Given the description of an element on the screen output the (x, y) to click on. 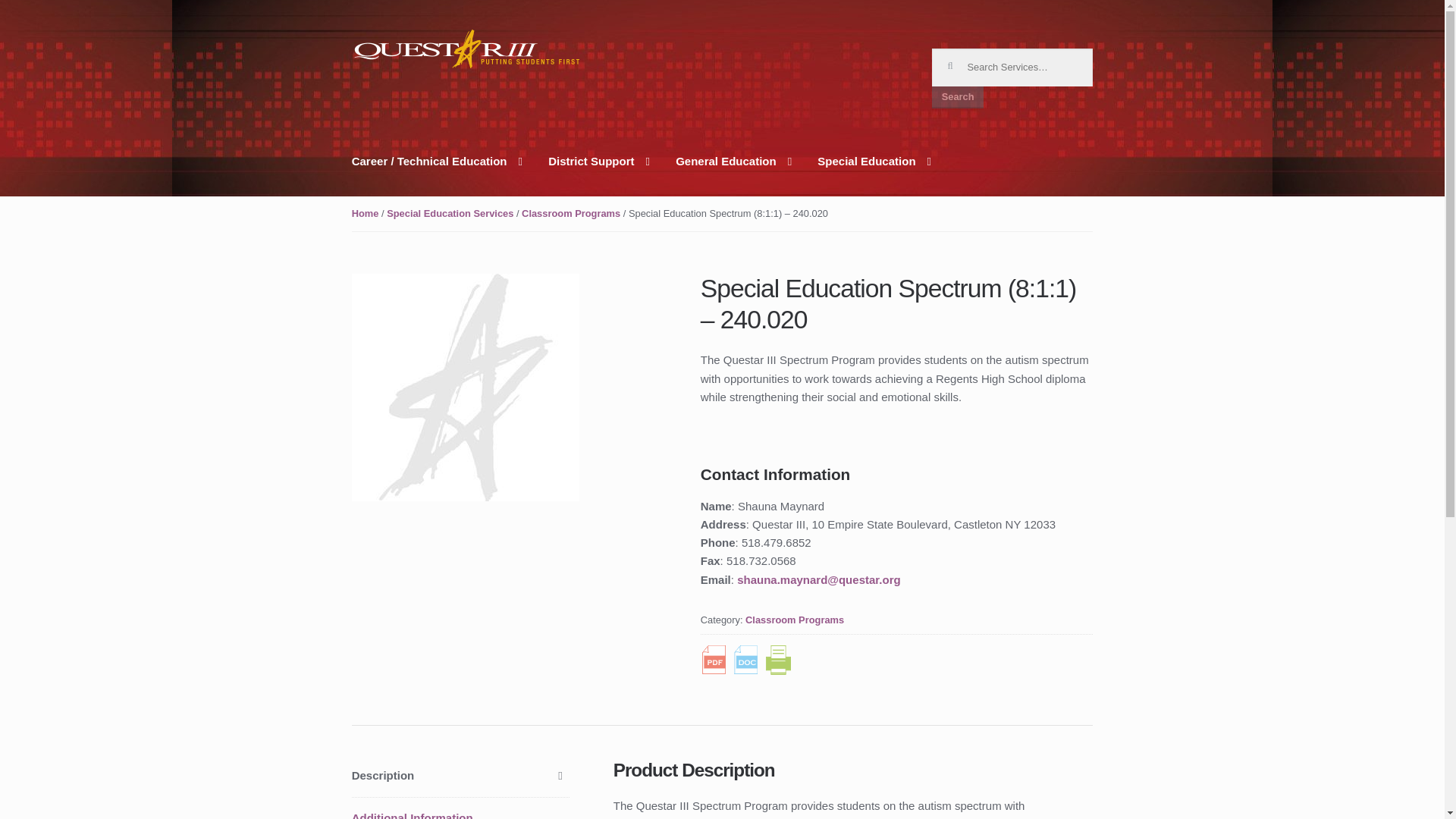
Questar III BOCES Programs and Services Information (465, 48)
District Support (599, 174)
Special Education (874, 174)
General Education (733, 174)
Search (957, 97)
